Given the description of an element on the screen output the (x, y) to click on. 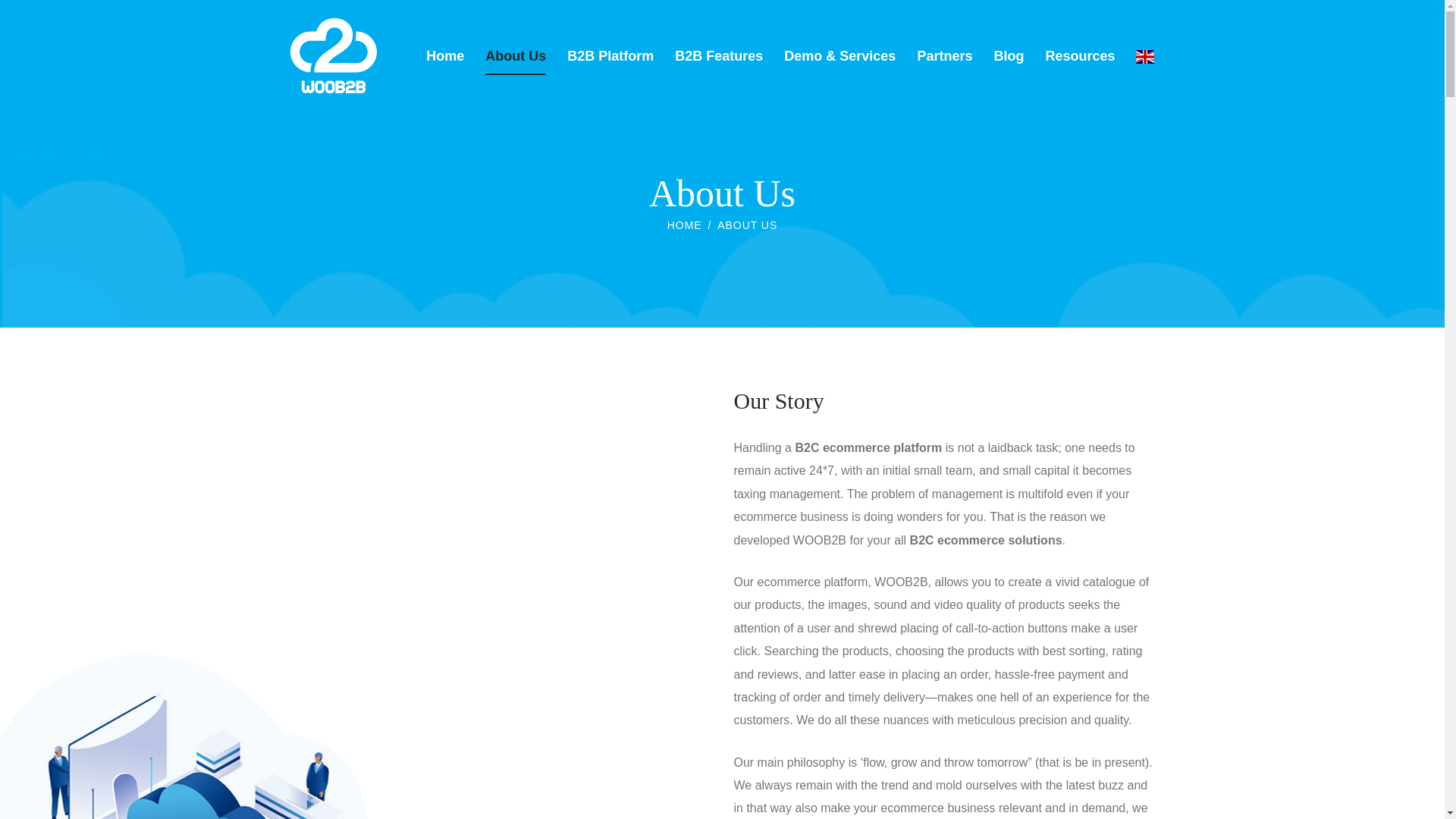
About Us (515, 55)
Resources (1080, 55)
Home (445, 55)
B2B Features (718, 55)
HOME (683, 224)
Go to WOOB2B. (683, 224)
Partners (944, 55)
B2B Platform (610, 55)
